Given the description of an element on the screen output the (x, y) to click on. 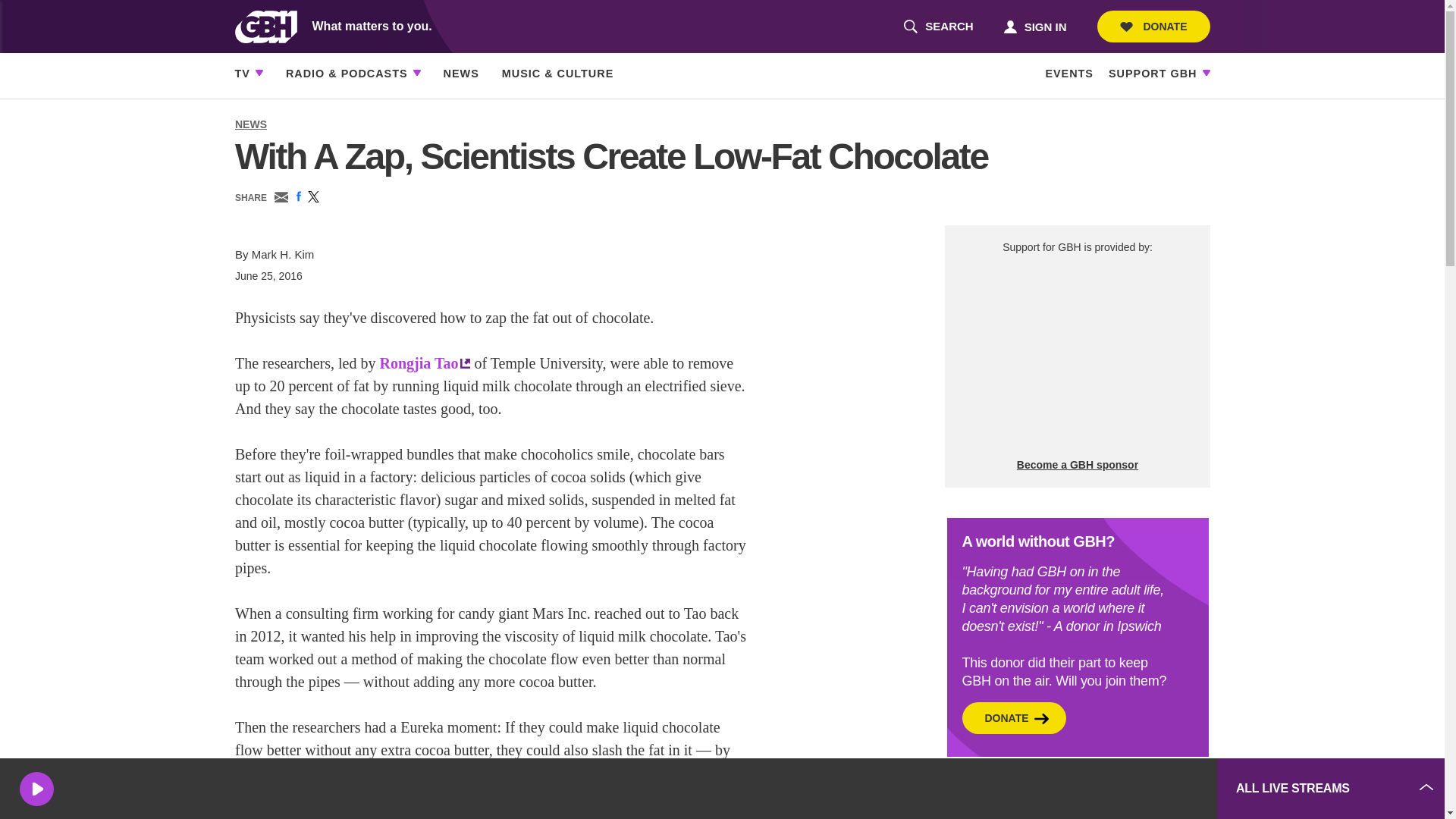
3rd party ad content (937, 26)
DONATE (1076, 356)
SIGN IN (1153, 26)
3rd party ad content (1034, 25)
